Given the description of an element on the screen output the (x, y) to click on. 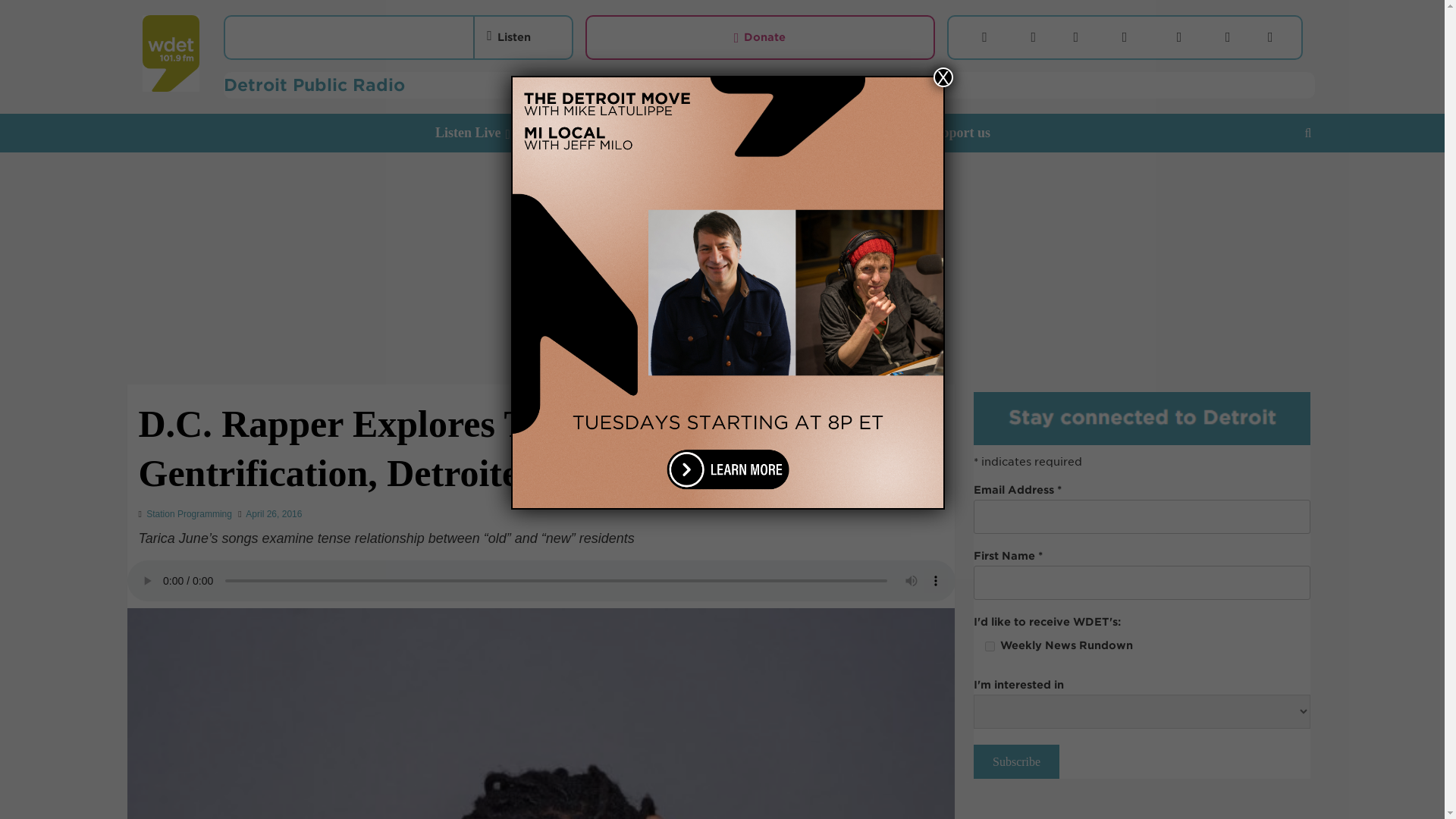
Station Programming (189, 513)
Search (1272, 179)
Schedule (750, 132)
Donate (759, 37)
1 (989, 646)
3rd party ad content (1142, 812)
Search (1307, 132)
April 26, 2016 (273, 513)
Support us (967, 132)
Events (889, 132)
Listener Survey (589, 132)
Shows (679, 132)
Playlists (819, 132)
Listen (508, 36)
